Given the description of an element on the screen output the (x, y) to click on. 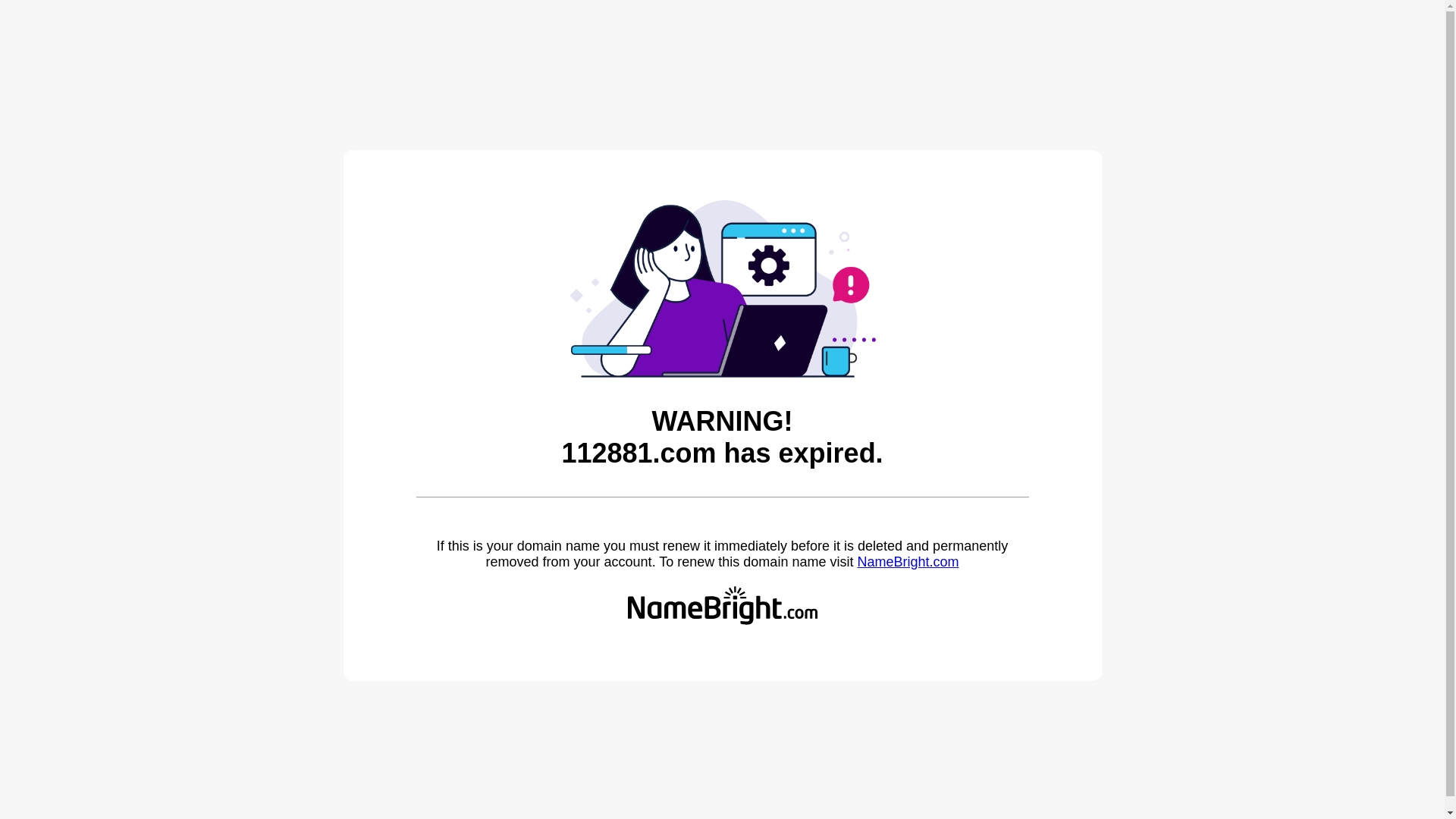
NameBright.com Element type: text (907, 561)
